Given the description of an element on the screen output the (x, y) to click on. 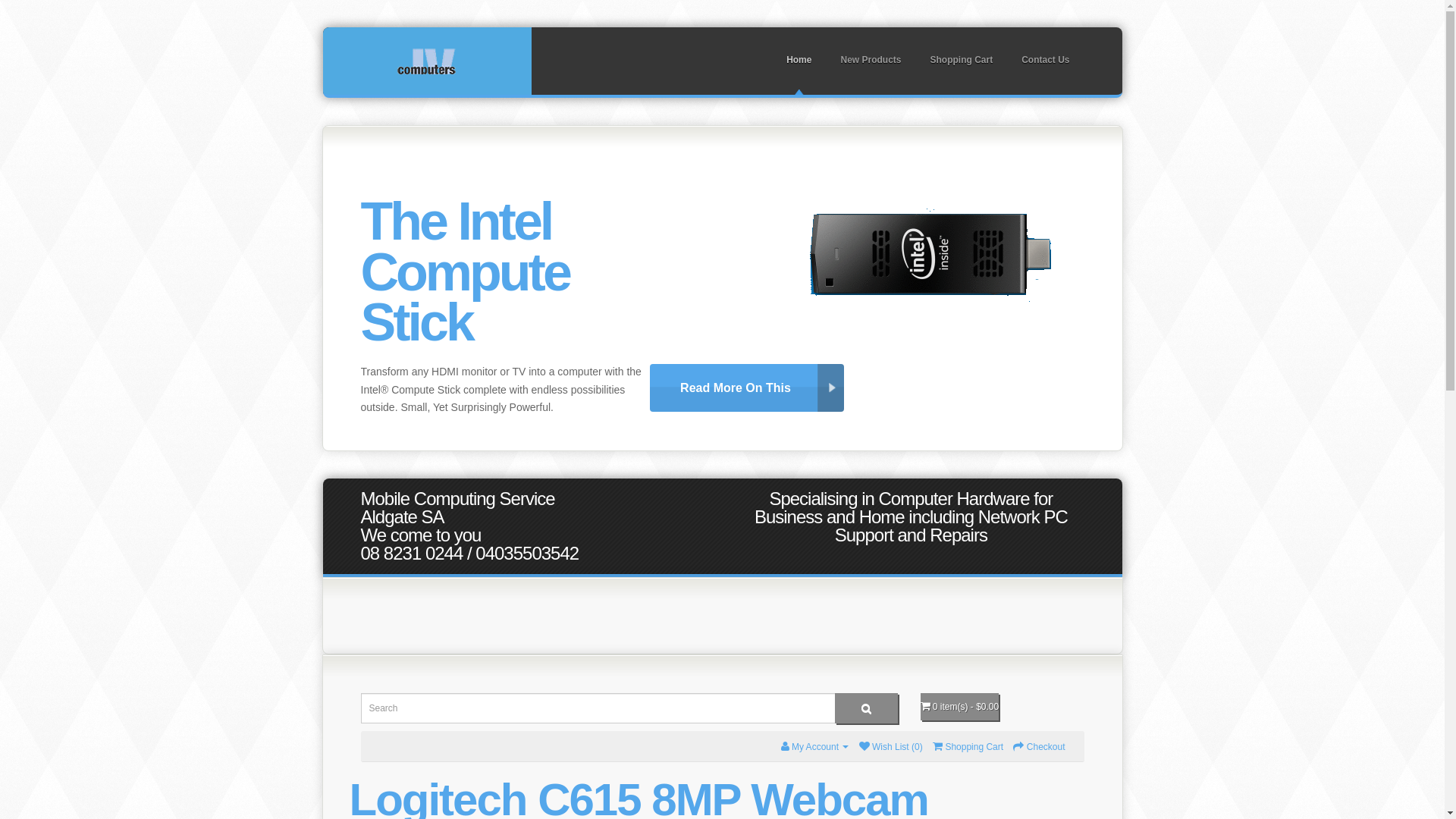
My Account Element type: text (815, 746)
New Products Element type: text (870, 60)
Home Element type: text (798, 60)
Shopping Cart Element type: text (961, 60)
Wish List (0) Element type: text (890, 746)
0 item(s) - $0.00 Element type: text (959, 707)
Contact Us Element type: text (1045, 60)
Logo Element type: text (426, 60)
Checkout Element type: text (1038, 746)
Shopping Cart Element type: text (967, 746)
Read More On This Element type: text (746, 388)
